Given the description of an element on the screen output the (x, y) to click on. 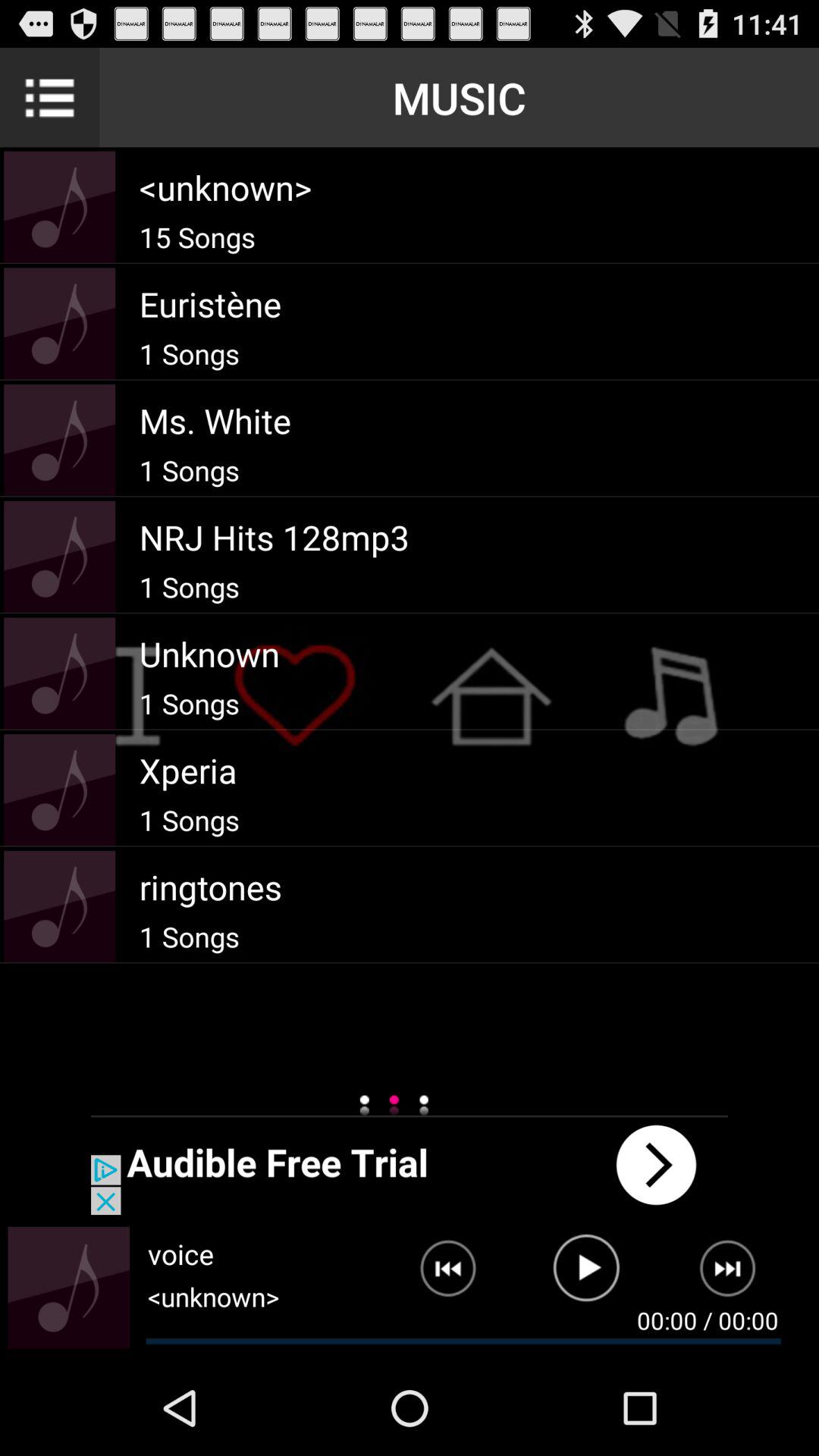
next button (409, 1164)
